Given the description of an element on the screen output the (x, y) to click on. 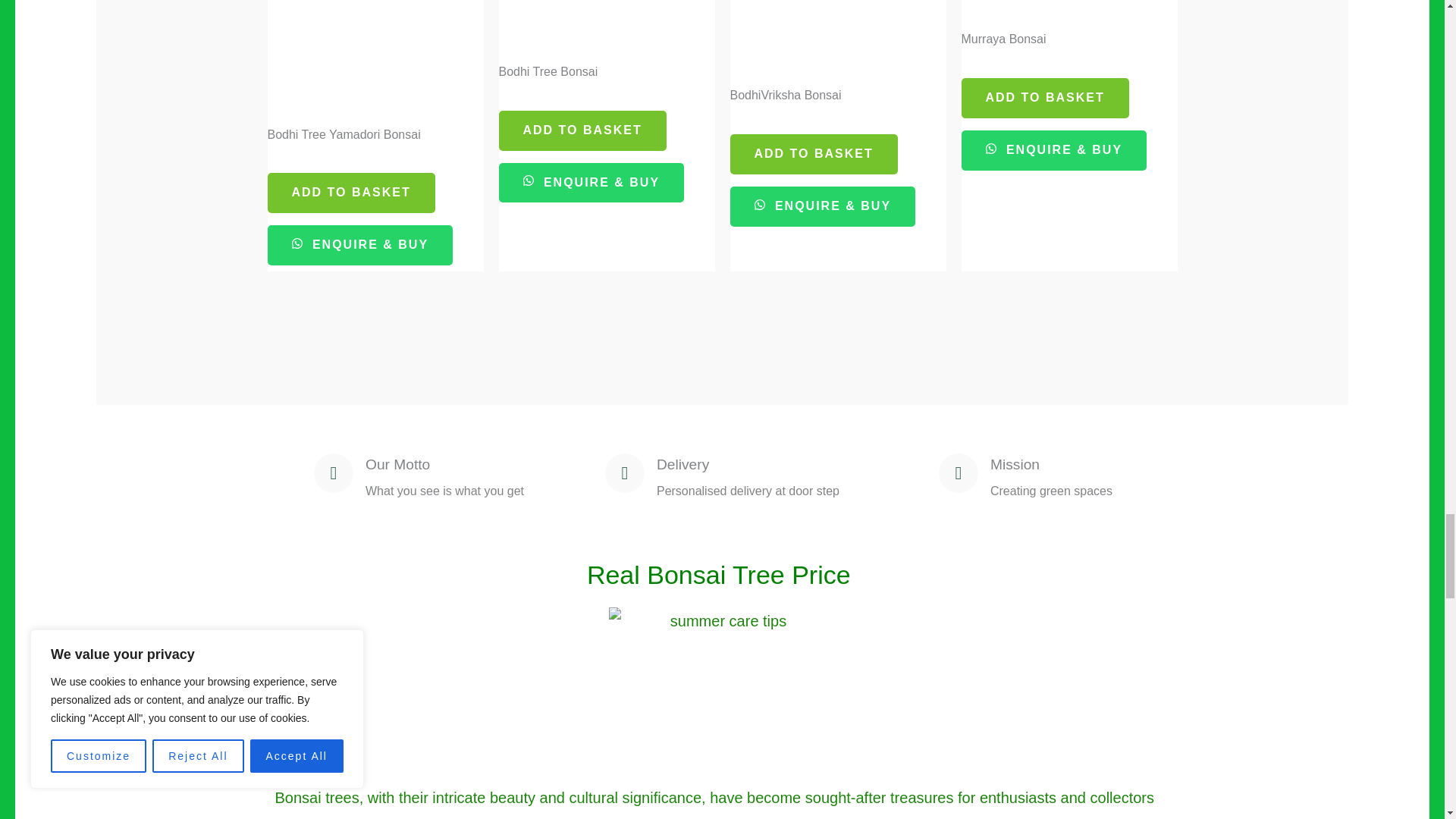
Complete order on WhatsApp to buy Bodhi Tree Bonsai (591, 182)
Complete order on WhatsApp to buy BodhiVriksha Bonsai (822, 206)
Complete order on WhatsApp to buy Bodhi Tree Yamadori Bonsai (359, 245)
Complete order on WhatsApp to buy Murraya Bonsai (1053, 150)
